Given the description of an element on the screen output the (x, y) to click on. 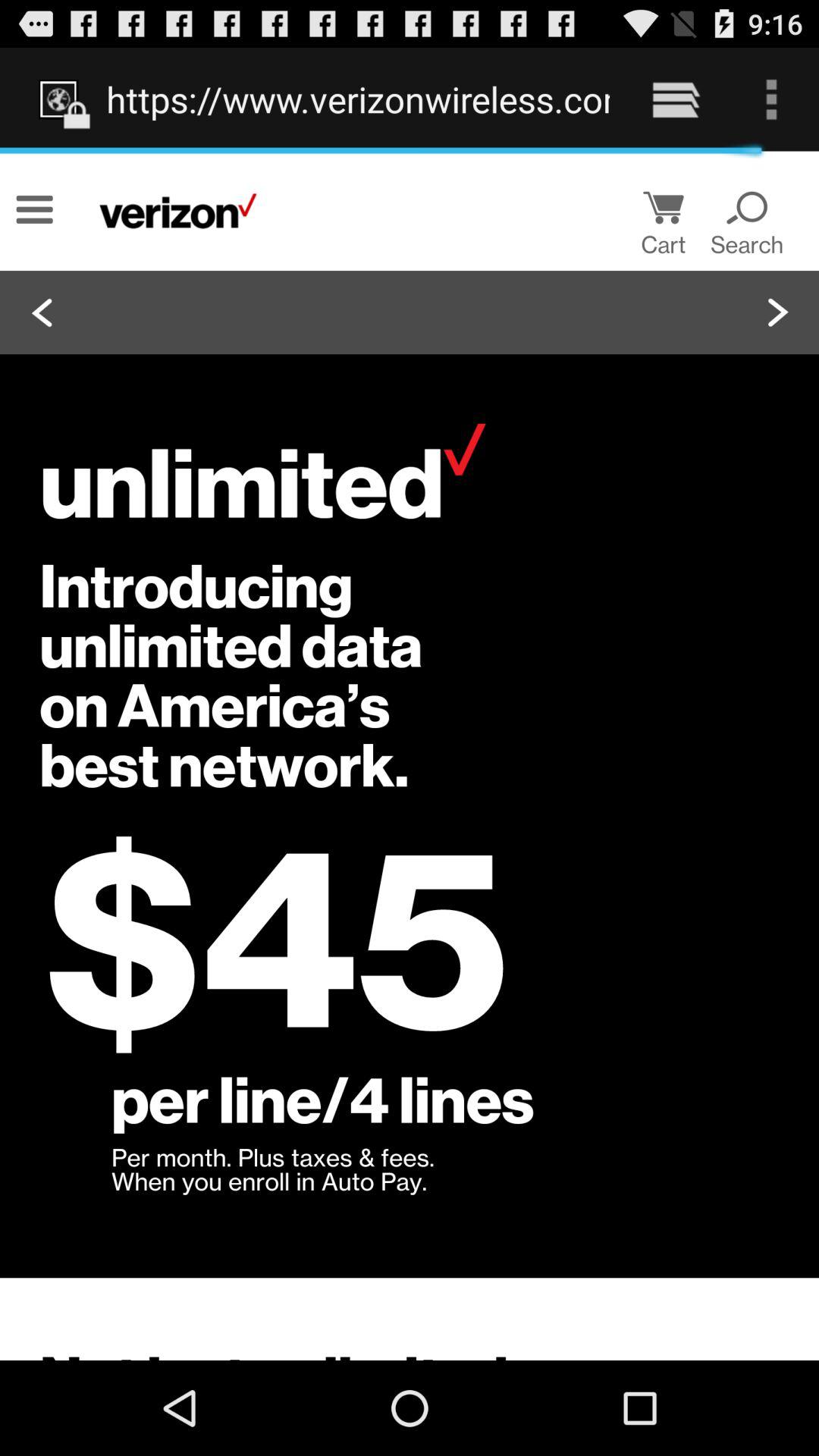
launch icon below the https www verizonwireless item (409, 755)
